Given the description of an element on the screen output the (x, y) to click on. 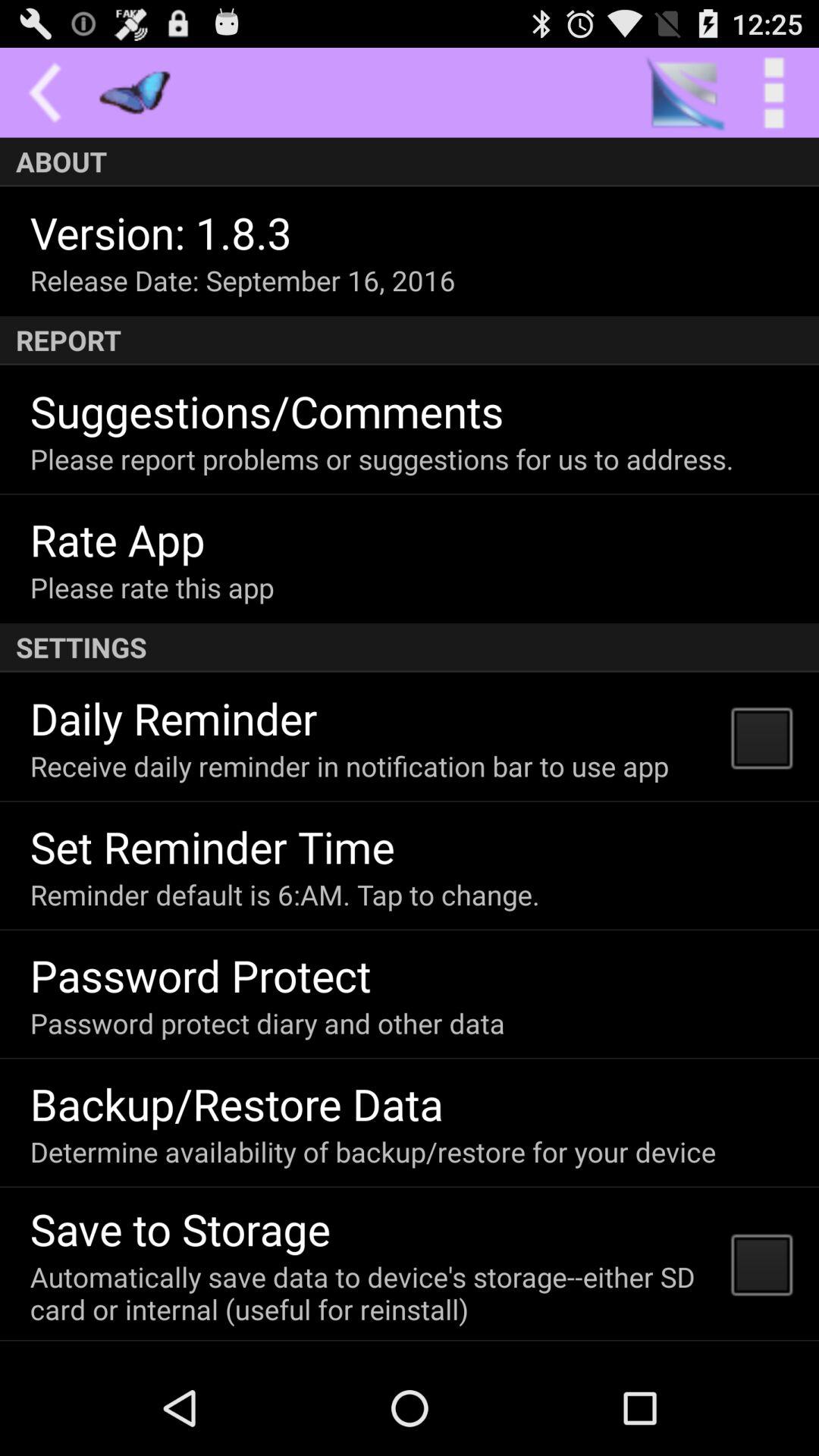
launch the don t send icon (181, 1356)
